Given the description of an element on the screen output the (x, y) to click on. 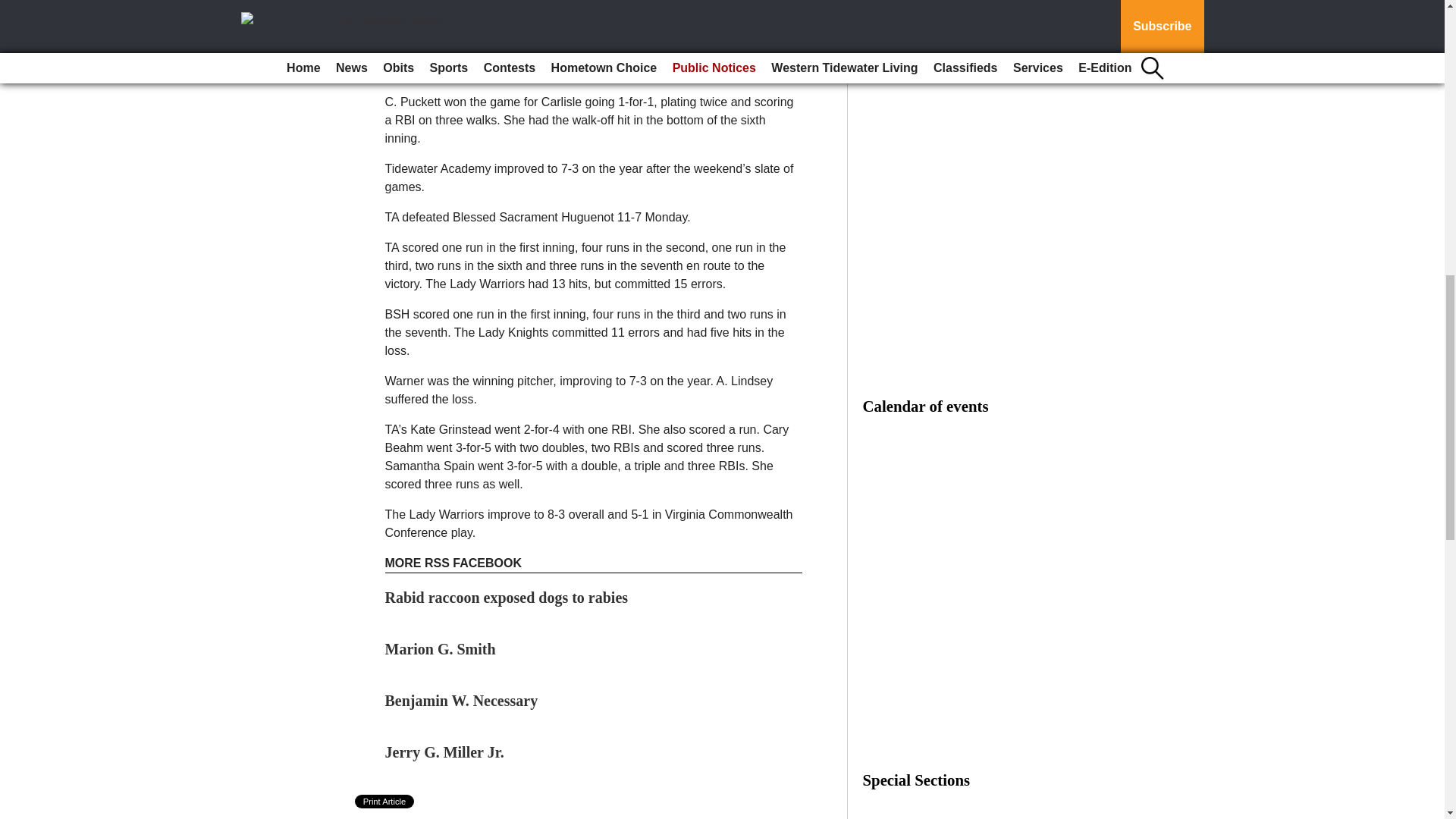
Benjamin W. Necessary (461, 700)
Jerry G. Miller Jr. (444, 751)
Jerry G. Miller Jr. (444, 751)
Rabid raccoon exposed dogs to rabies (506, 597)
Marion G. Smith (440, 648)
Print Article (384, 801)
Rabid raccoon exposed dogs to rabies (506, 597)
Marion G. Smith (440, 648)
Benjamin W. Necessary (461, 700)
